Given the description of an element on the screen output the (x, y) to click on. 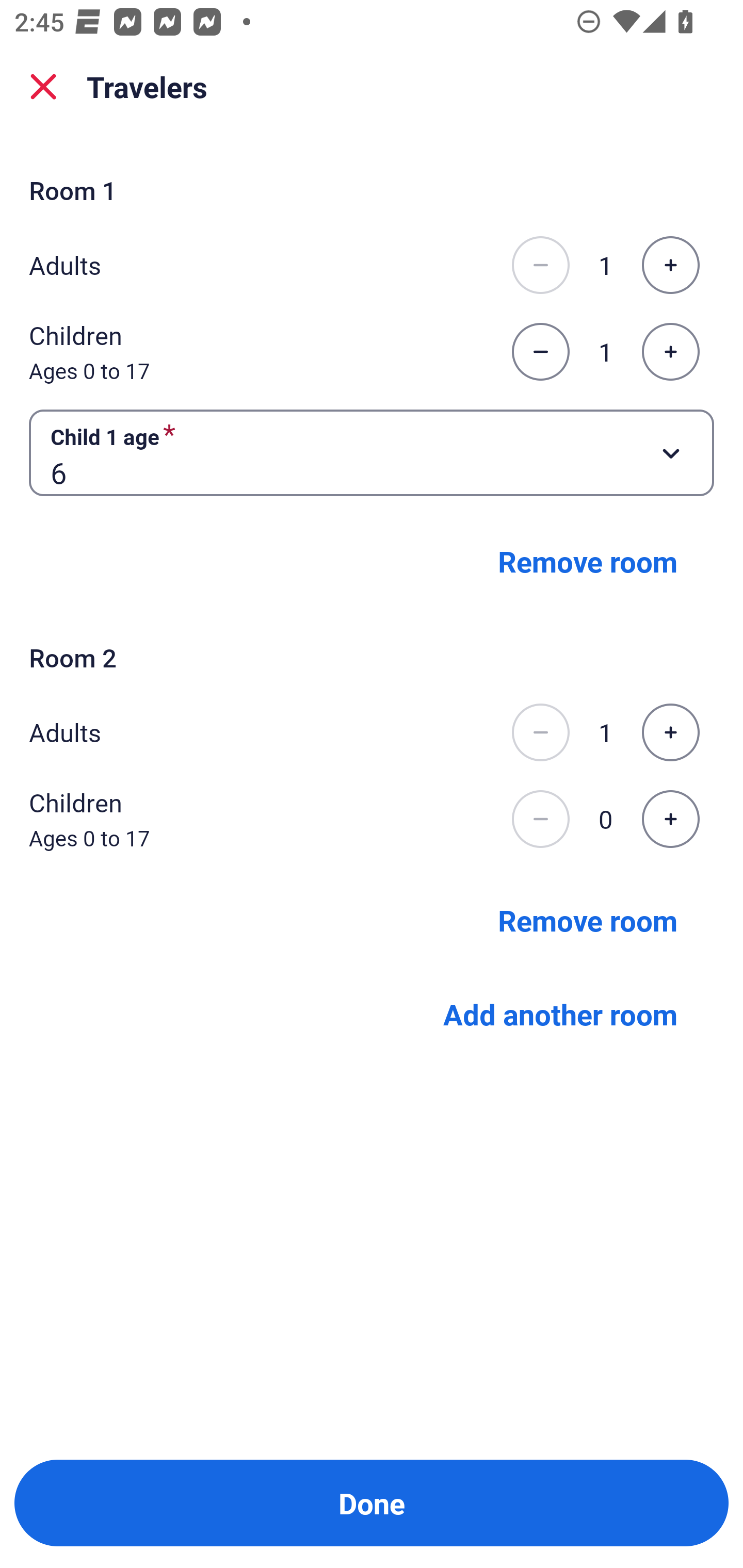
close (43, 86)
Decrease the number of adults (540, 264)
Increase the number of adults (670, 264)
Decrease the number of children (540, 351)
Increase the number of children (670, 351)
Child 1 age required Button 6 (371, 452)
Remove room (588, 561)
Decrease the number of adults (540, 732)
Increase the number of adults (670, 732)
Decrease the number of children (540, 819)
Increase the number of children (670, 819)
Remove room (588, 919)
Add another room (560, 1013)
Done (371, 1502)
